Given the description of an element on the screen output the (x, y) to click on. 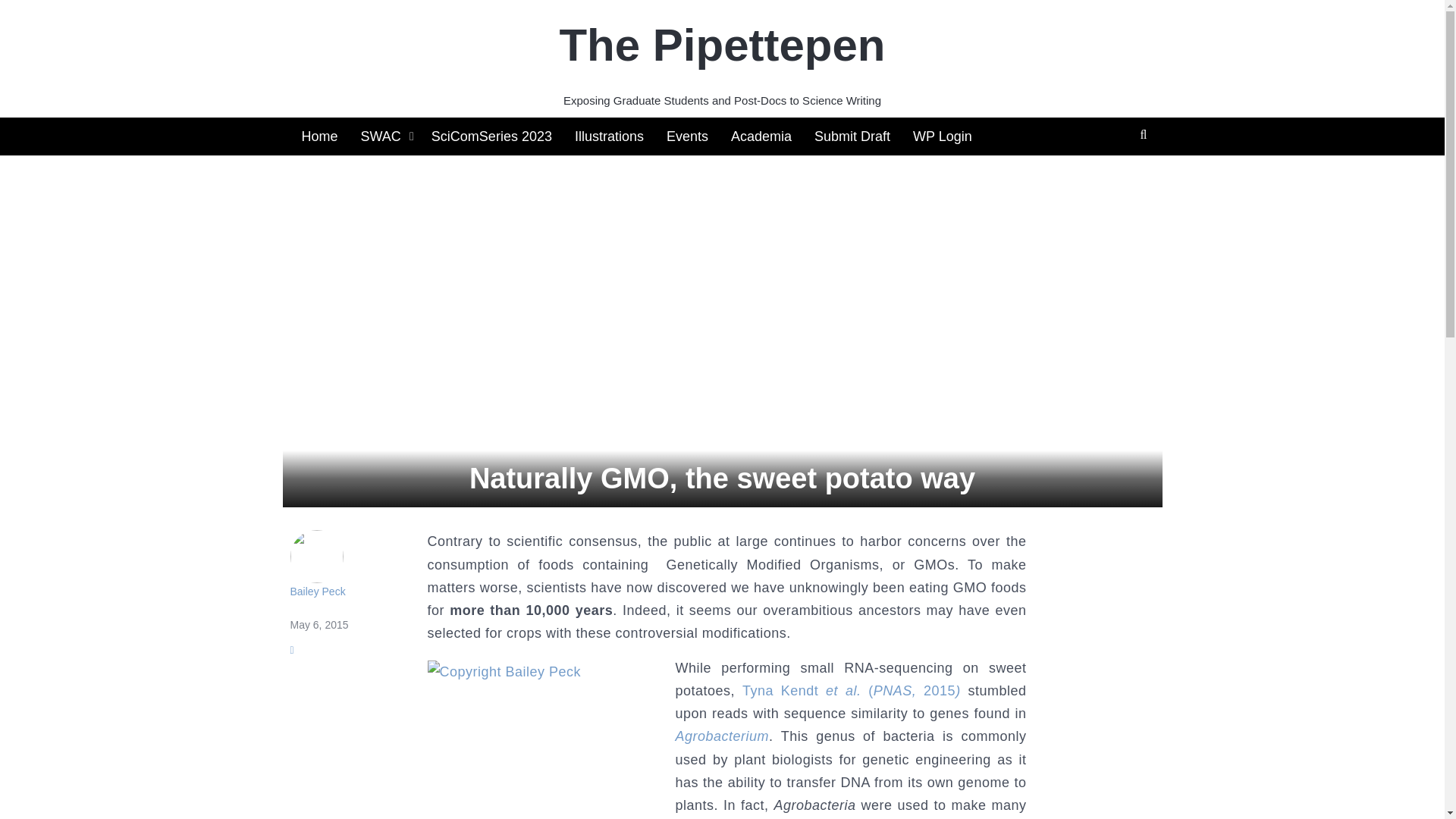
WP Login (942, 136)
Search (772, 157)
Events (687, 136)
SWAC (384, 136)
Academia (761, 136)
Bailey Peck (354, 563)
Submit Draft (852, 136)
SciComSeries 2023 (491, 136)
Illustrations (609, 136)
Agrobacterium (721, 735)
